Given the description of an element on the screen output the (x, y) to click on. 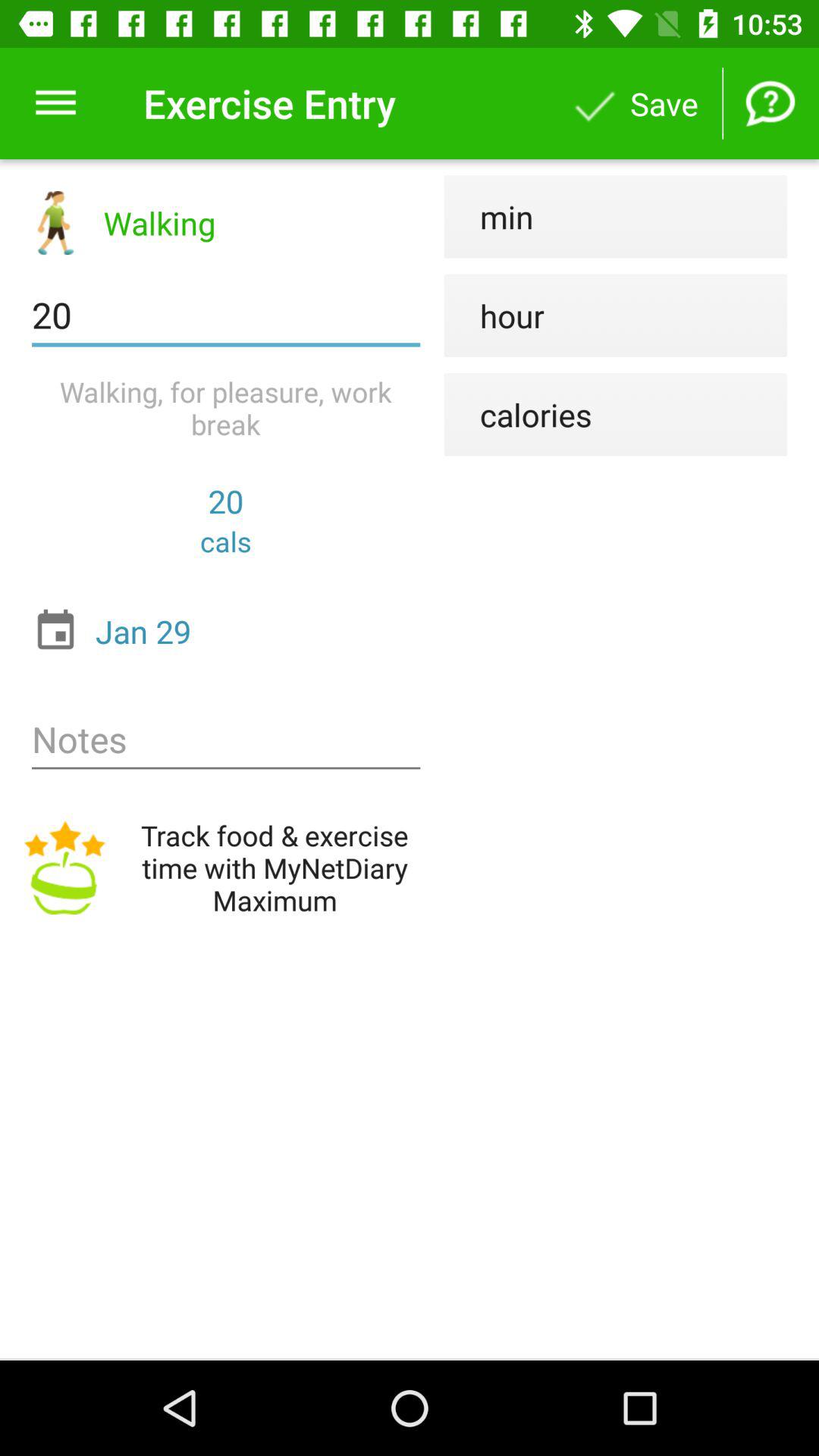
jump to track food exercise item (225, 867)
